Given the description of an element on the screen output the (x, y) to click on. 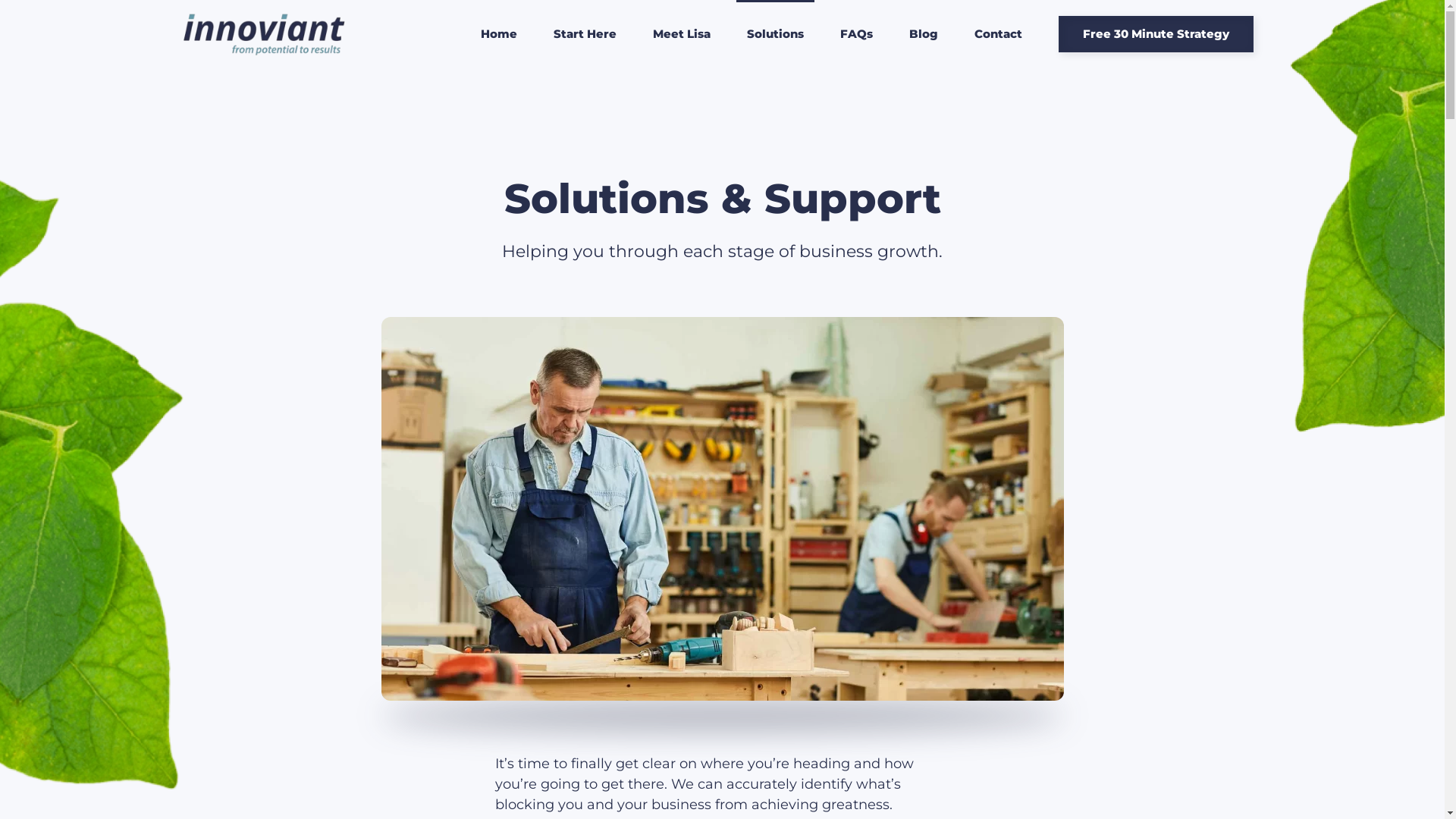
Home Element type: text (498, 34)
Meet Lisa Element type: text (680, 34)
Solutions Element type: text (774, 34)
Blog Element type: text (922, 34)
FAQs Element type: text (856, 34)
Start Here Element type: text (584, 34)
Free 30 Minute Strategy Element type: text (1155, 33)
Contact Element type: text (997, 34)
